Given the description of an element on the screen output the (x, y) to click on. 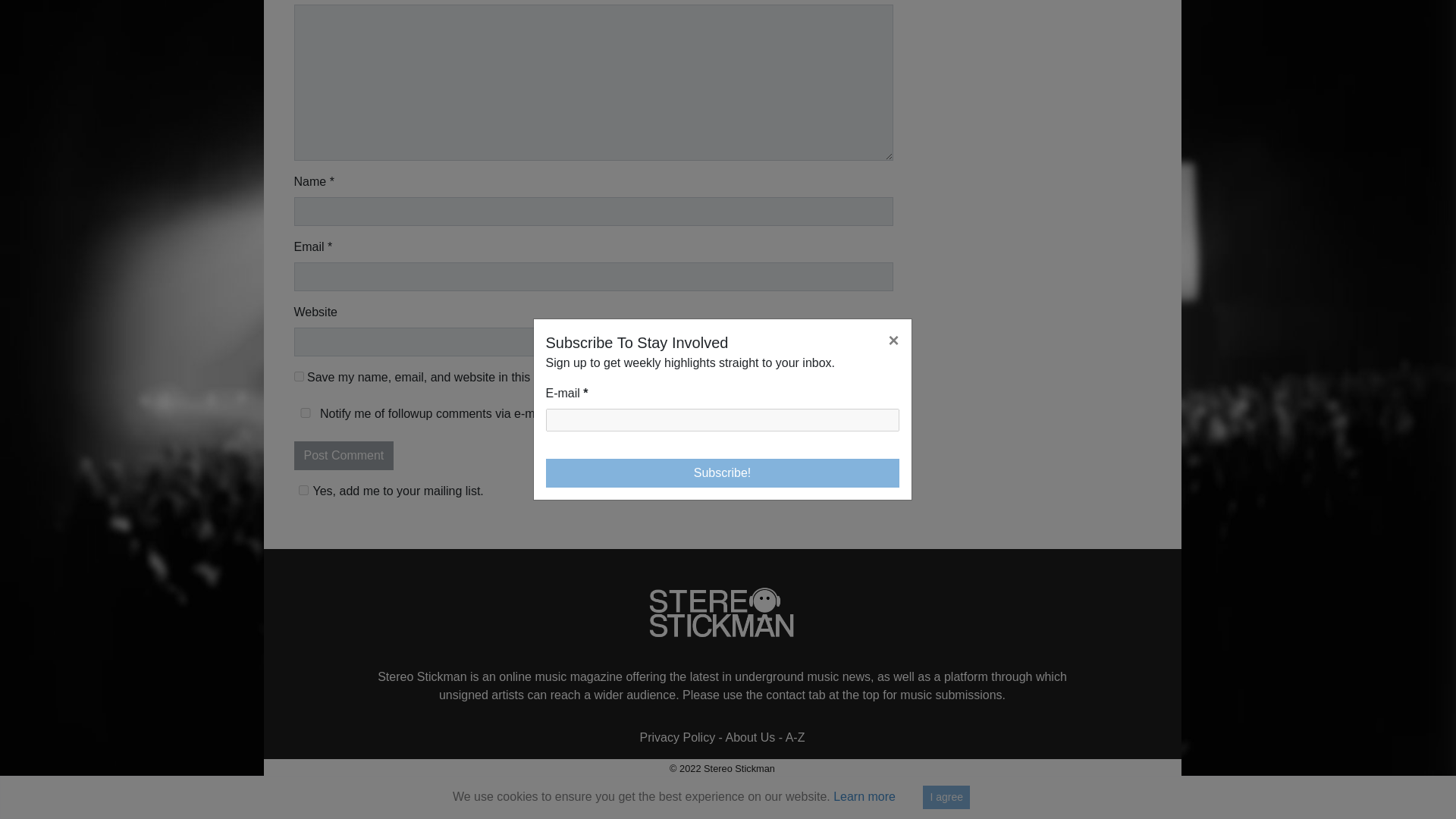
Post Comment (344, 455)
